Given the description of an element on the screen output the (x, y) to click on. 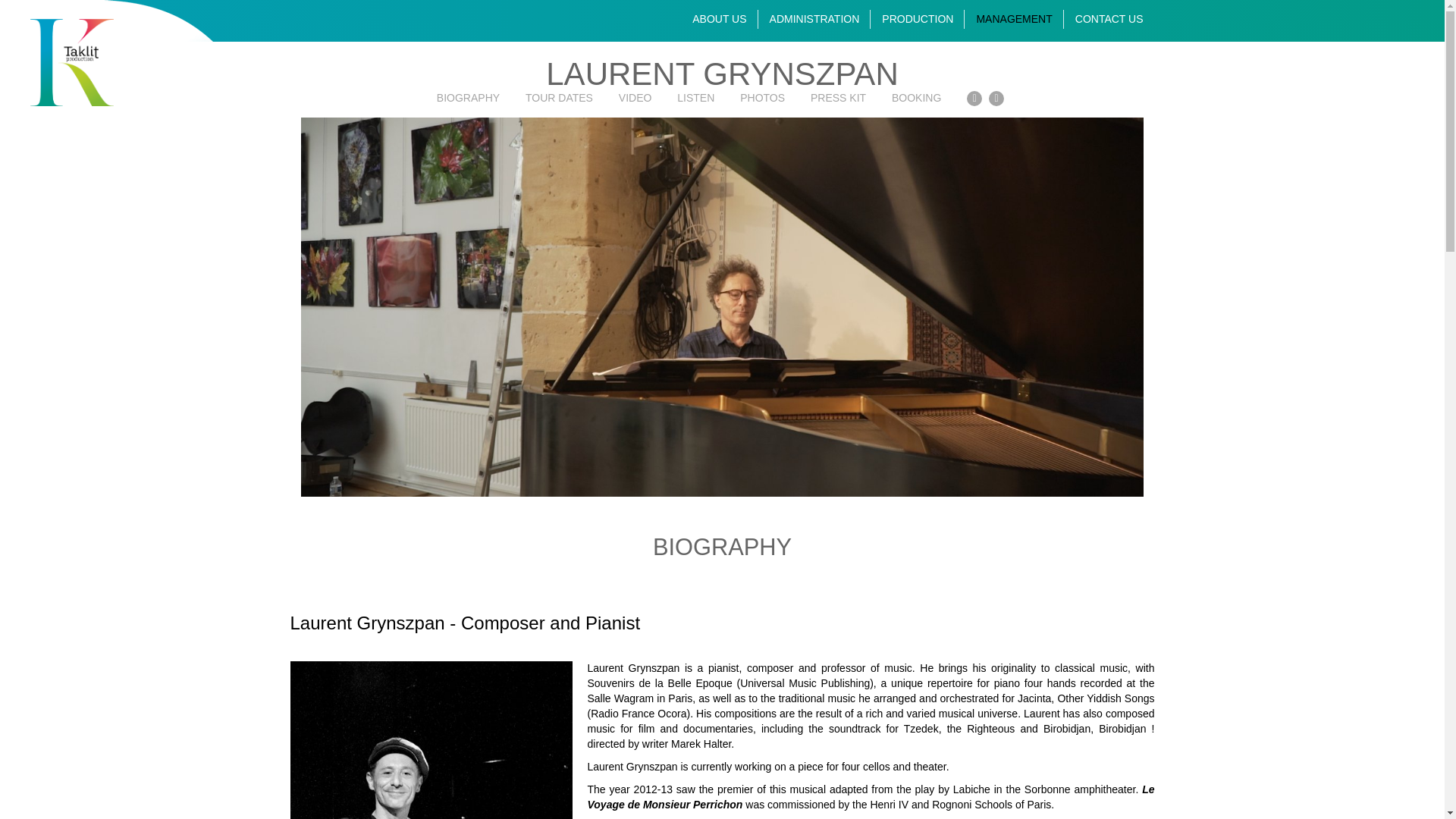
BIOGRAPHY (467, 97)
Retour Accueil (71, 62)
VIDEO (635, 97)
BOOKING (915, 97)
MANAGEMENT (1012, 18)
PRESS KIT (838, 97)
TOUR DATES (558, 97)
ABOUT US (719, 18)
PHOTOS (761, 97)
